Given the description of an element on the screen output the (x, y) to click on. 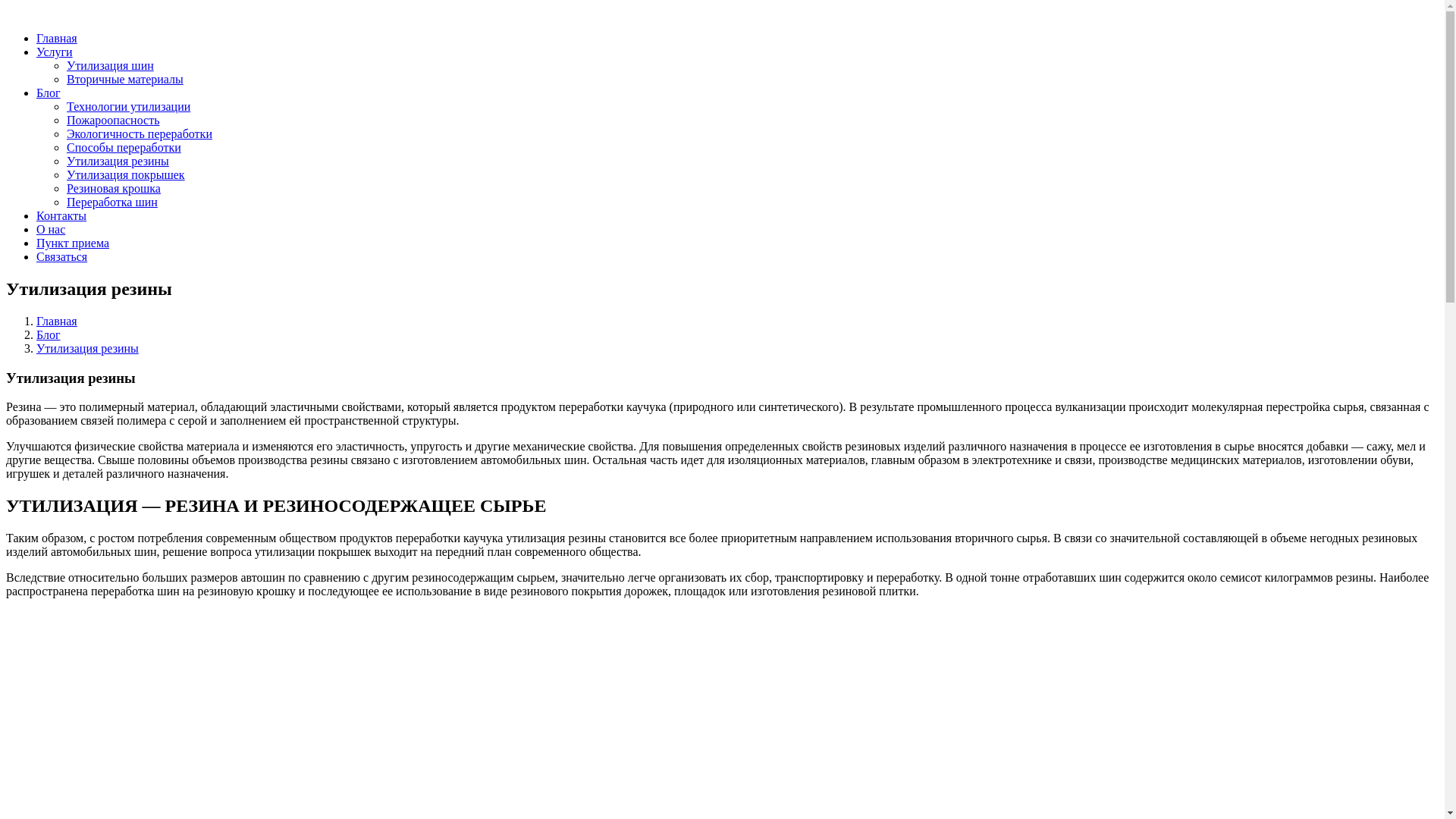
chat/sendmessage Element type: text (48, 7)
chat/attachfile Element type: text (45, 7)
chat/sendmessage Element type: text (59, 7)
